Given the description of an element on the screen output the (x, y) to click on. 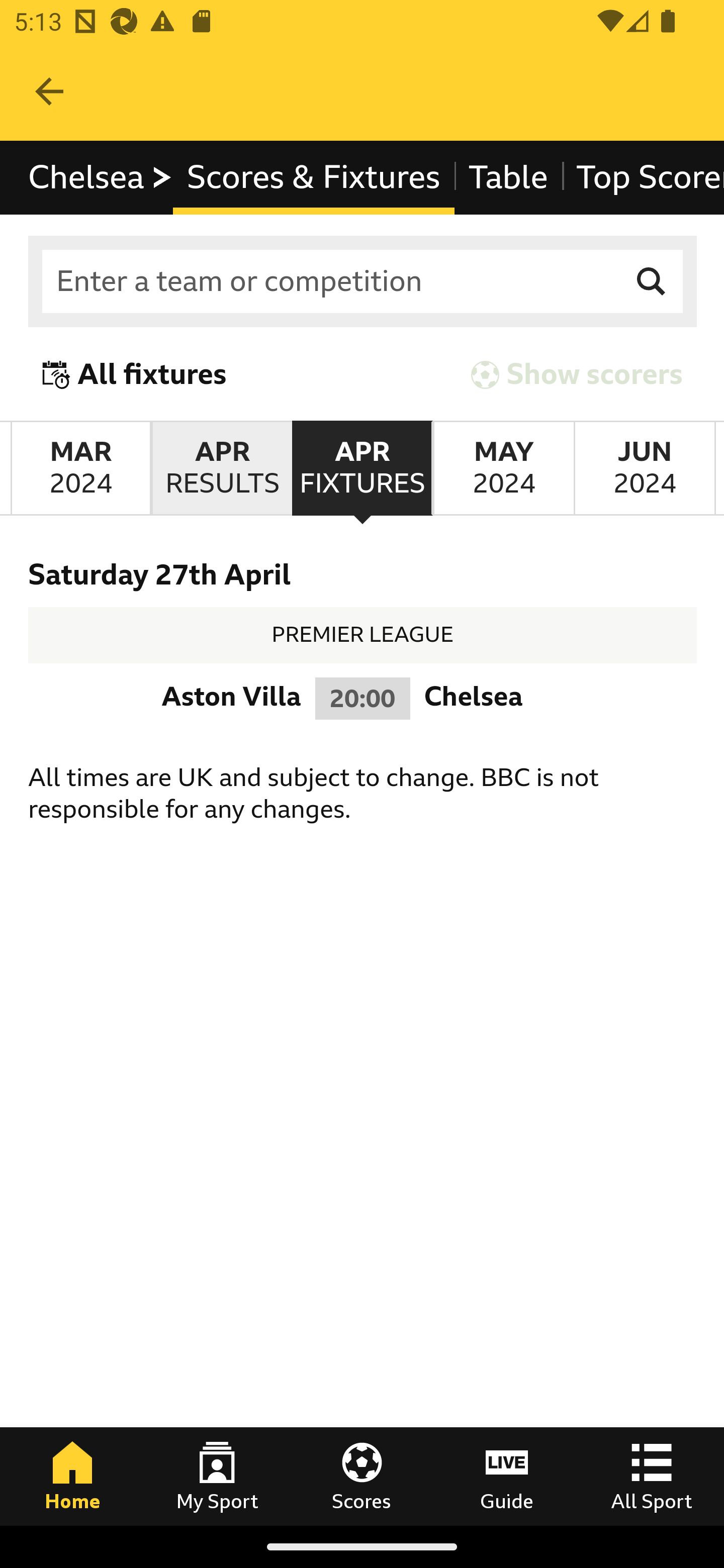
Navigate up (49, 91)
Chelsea  (100, 177)
Scores & Fixtures (313, 177)
Table (508, 177)
Top Scorers (642, 177)
Search (651, 282)
All fixtures (134, 374)
Show scorers (576, 374)
March2024 March 2024 (80, 468)
AprilRESULTS April RESULTS (221, 468)
AprilFIXTURES, Selected April FIXTURES , Selected (361, 468)
May2024 May 2024 (502, 468)
June2024 June 2024 (644, 468)
My Sport (216, 1475)
Scores (361, 1475)
Guide (506, 1475)
All Sport (651, 1475)
